Given the description of an element on the screen output the (x, y) to click on. 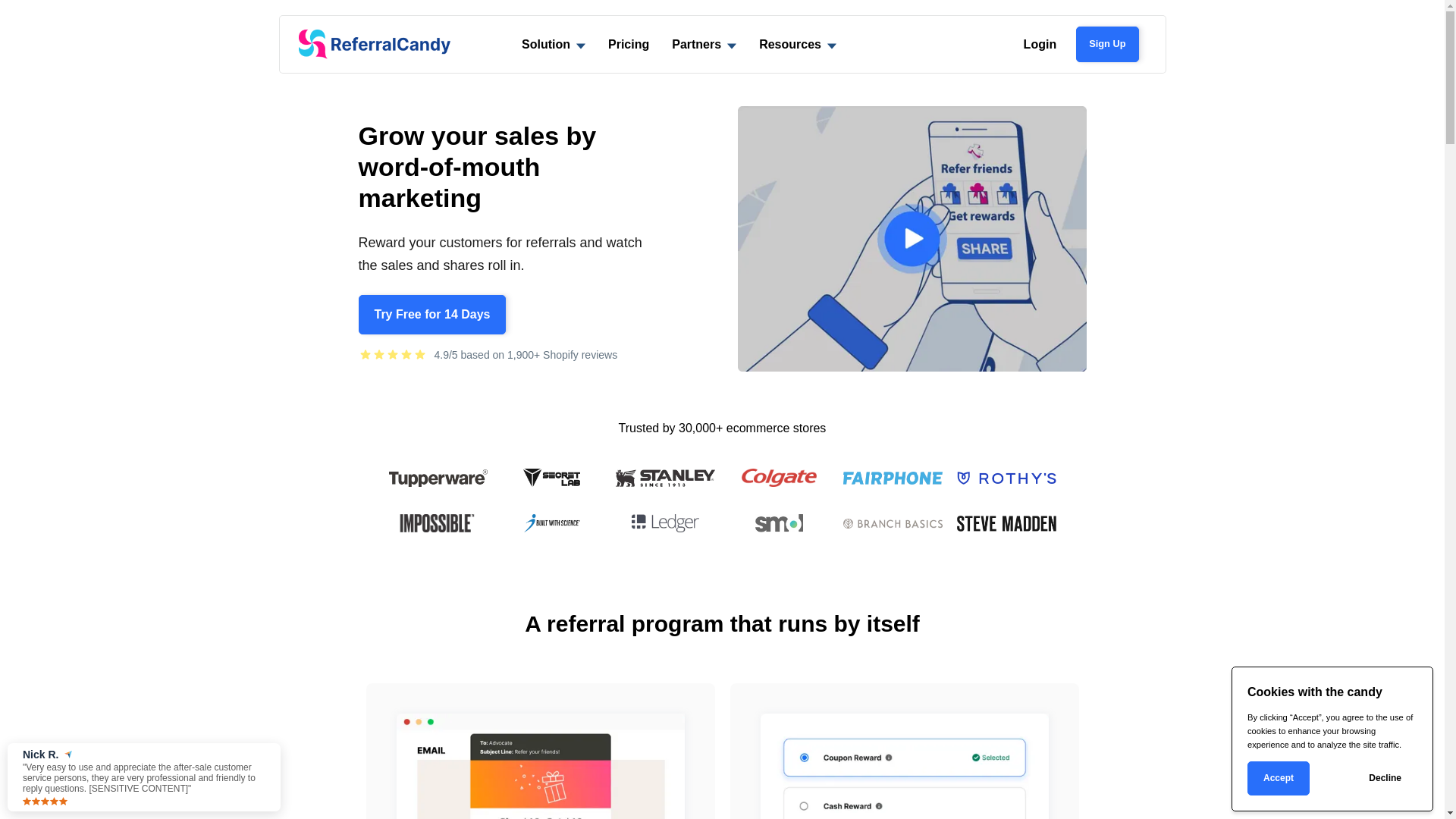
Login Element type: text (1040, 43)
Pricing Element type: text (628, 43)
Sign Up Element type: text (1107, 43)
Try Free for 14 Days Element type: text (431, 314)
Accept Element type: text (1278, 778)
Decline Element type: text (1384, 778)
